Given the description of an element on the screen output the (x, y) to click on. 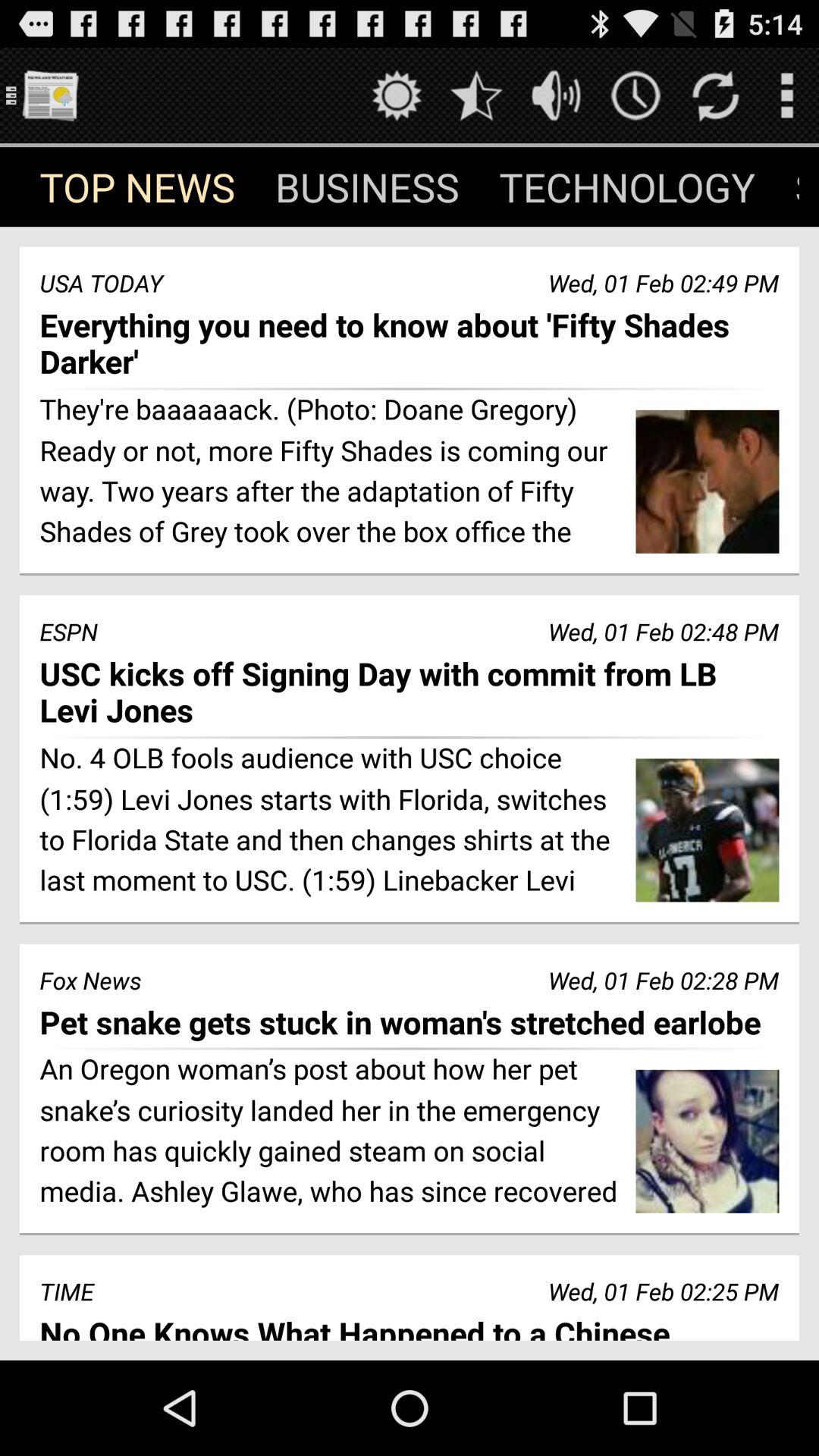
go to settings (396, 95)
